Given the description of an element on the screen output the (x, y) to click on. 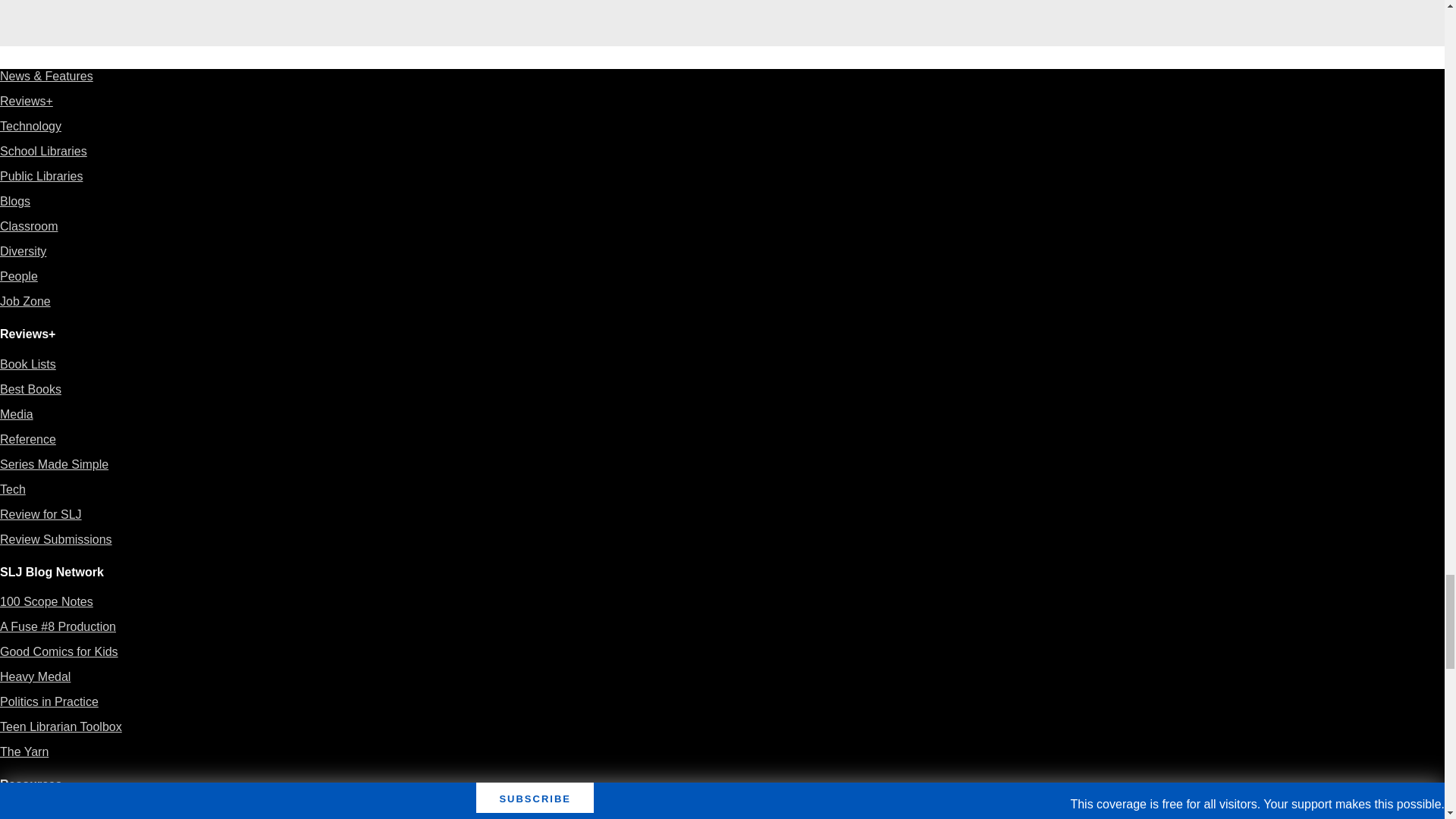
3rd party ad content (721, 13)
